Given the description of an element on the screen output the (x, y) to click on. 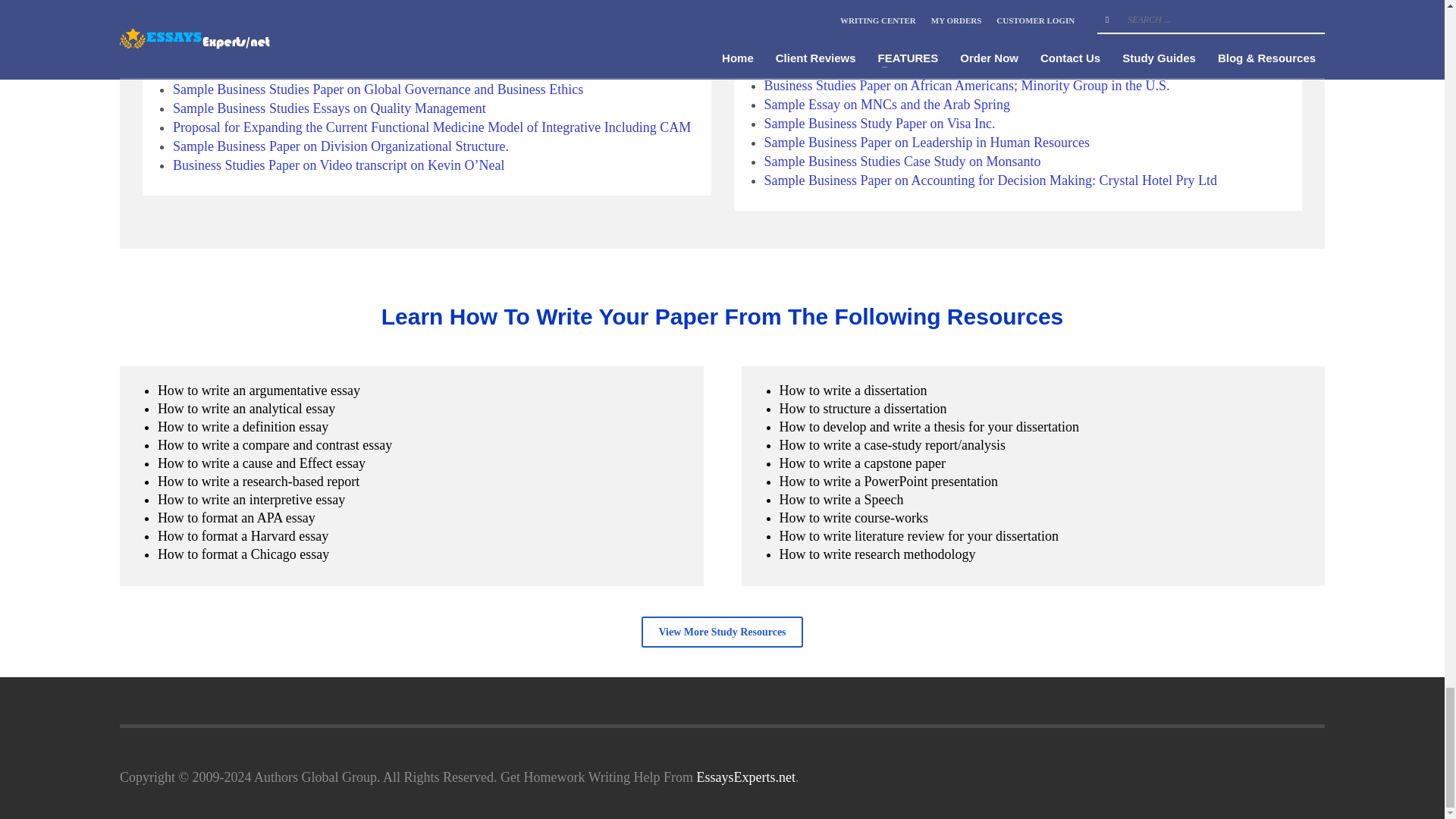
Sample Brief Business Proposal on Armidale Hospital (320, 51)
Sample Business Studies Essays on Quality Management (329, 108)
Sample Business Paper on Division Organizational Structure. (340, 145)
